Given the description of an element on the screen output the (x, y) to click on. 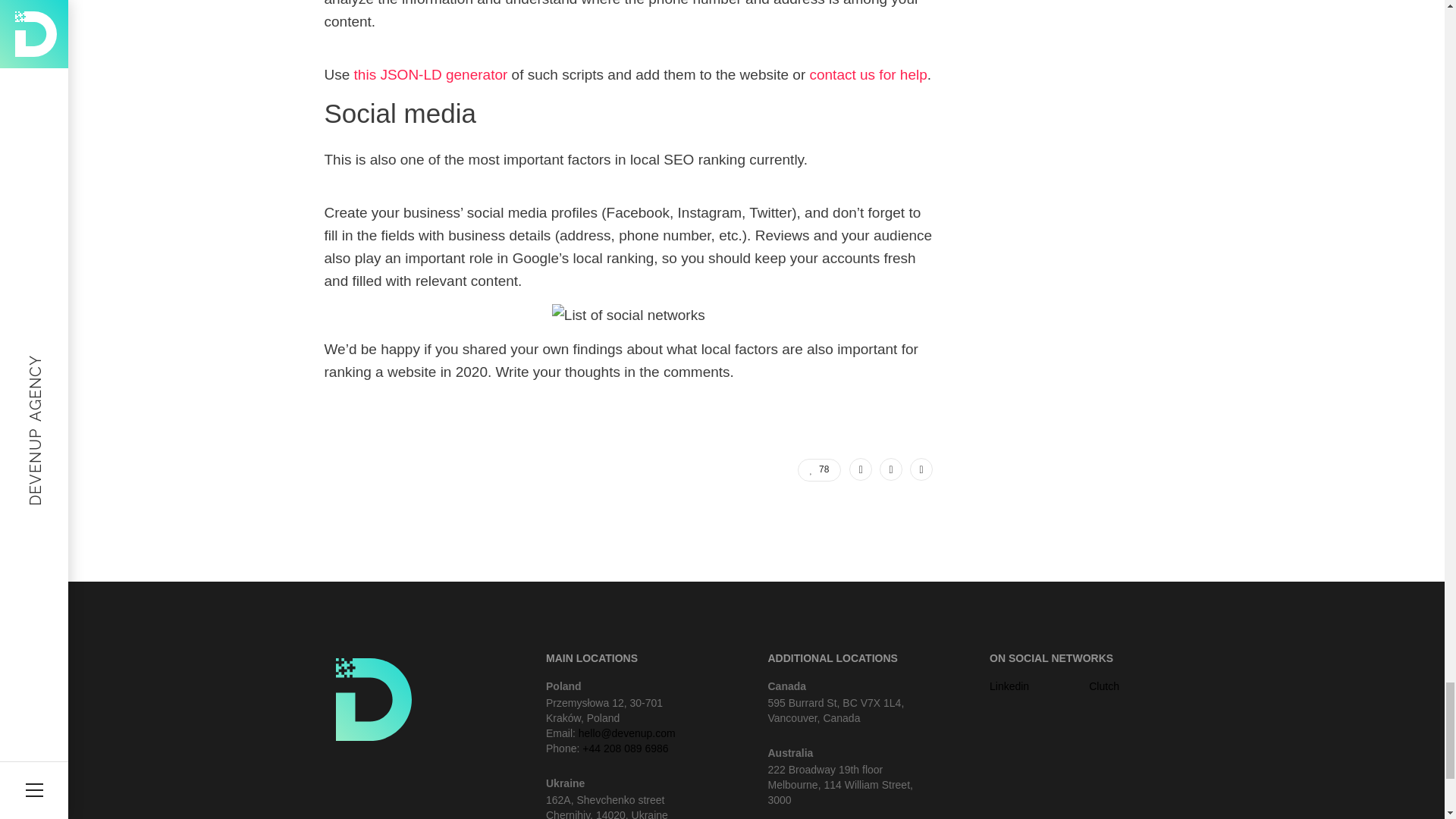
contact us for help (867, 74)
78 (819, 469)
this JSON-LD generator (430, 74)
Like (819, 469)
